Given the description of an element on the screen output the (x, y) to click on. 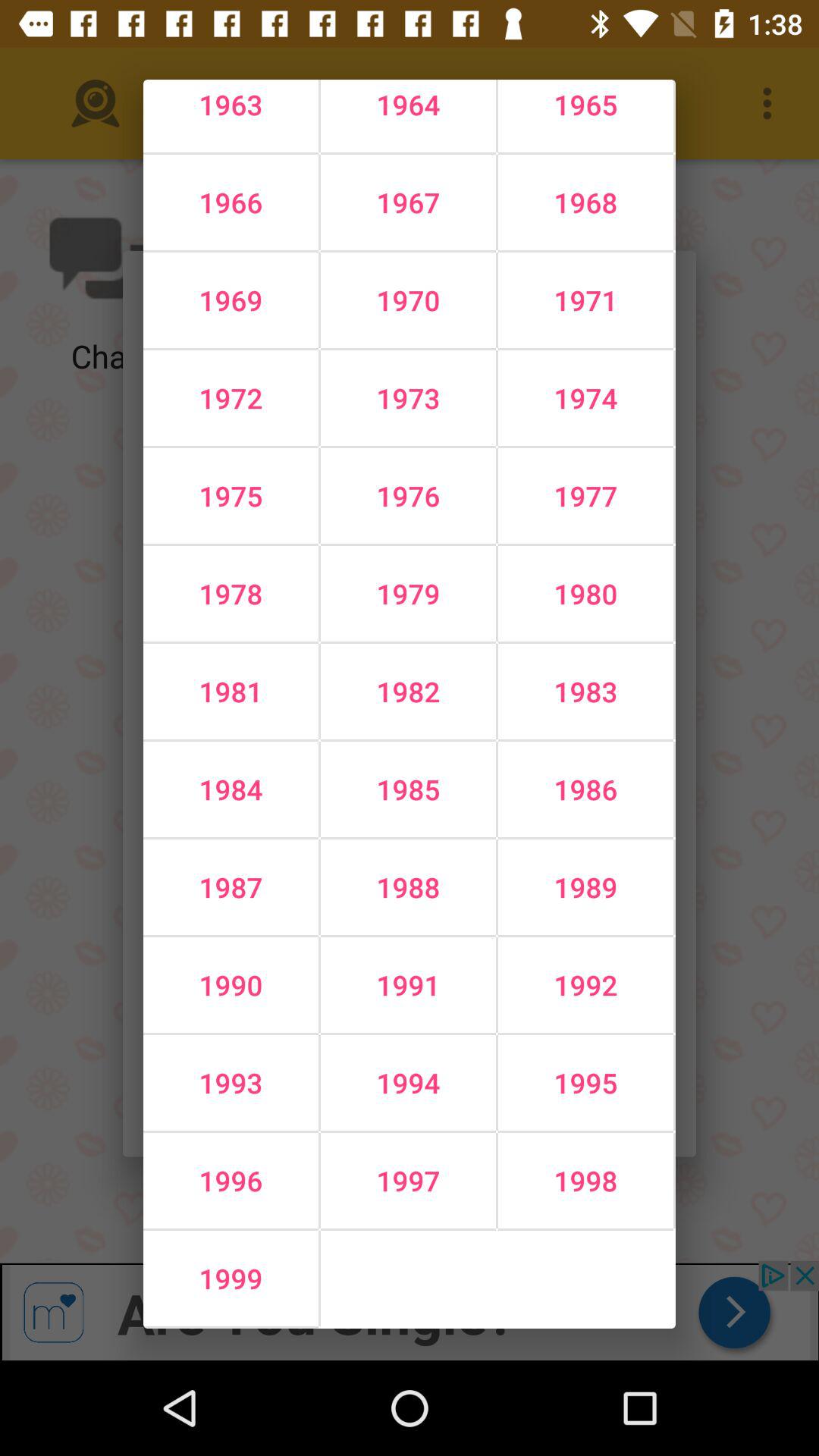
select icon below 1966 (407, 300)
